Given the description of an element on the screen output the (x, y) to click on. 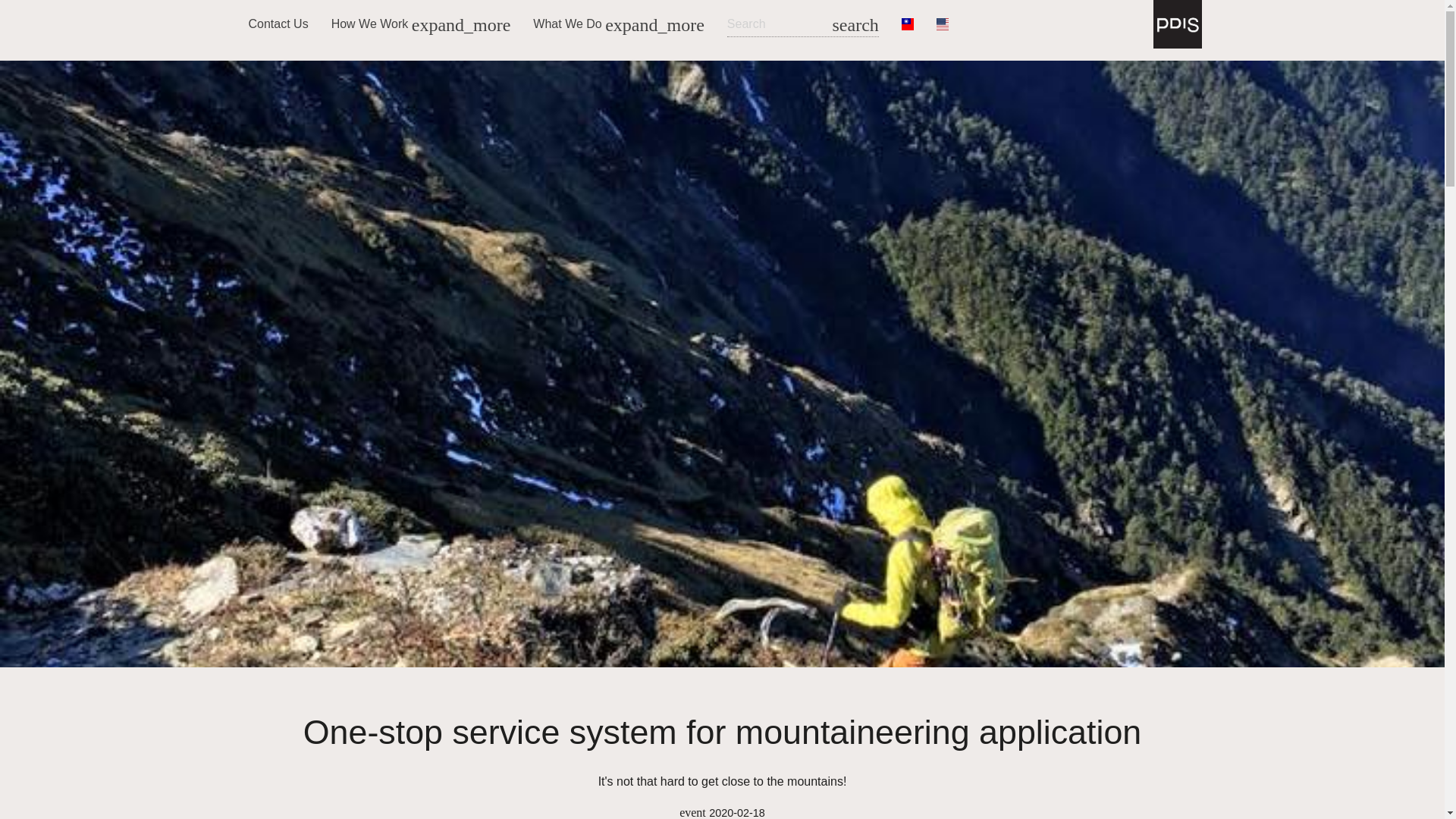
Projects (617, 72)
Tools (421, 72)
Contact Us (276, 24)
